Given the description of an element on the screen output the (x, y) to click on. 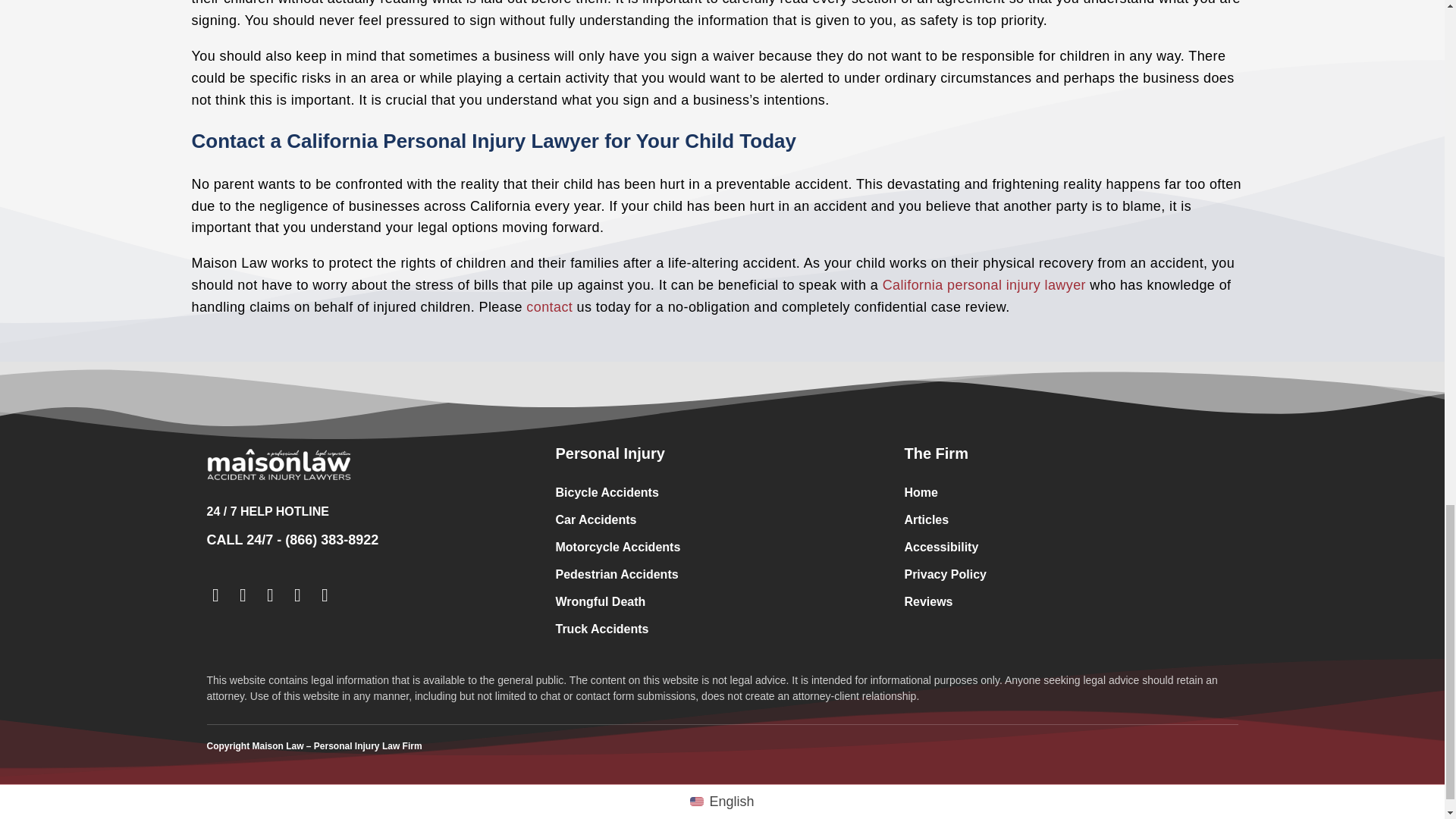
Bicycle Accidents (721, 492)
contact (548, 306)
California personal injury lawyer (984, 284)
Car Accidents (721, 519)
